Given the description of an element on the screen output the (x, y) to click on. 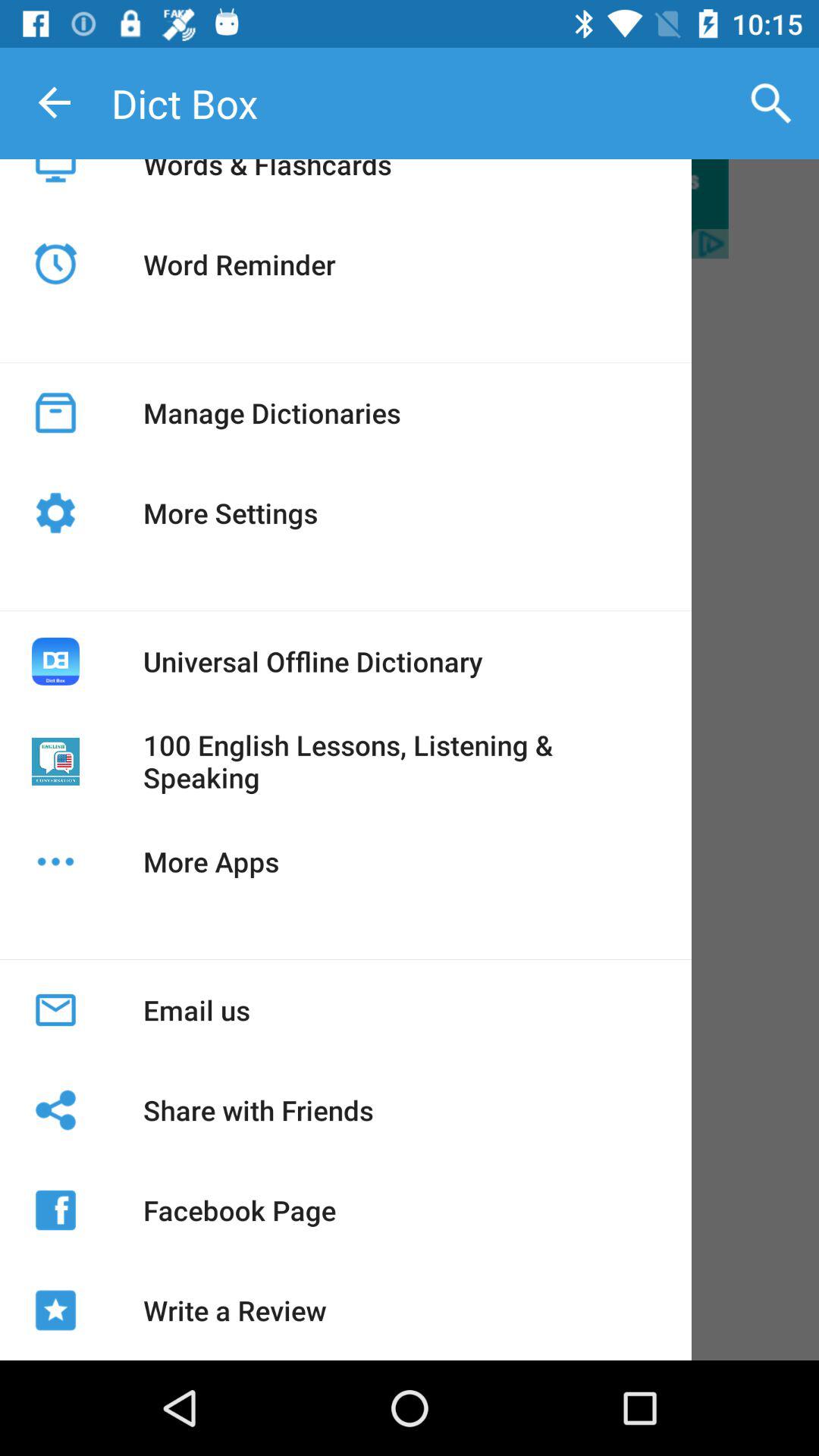
press item at the top right corner (771, 103)
